Given the description of an element on the screen output the (x, y) to click on. 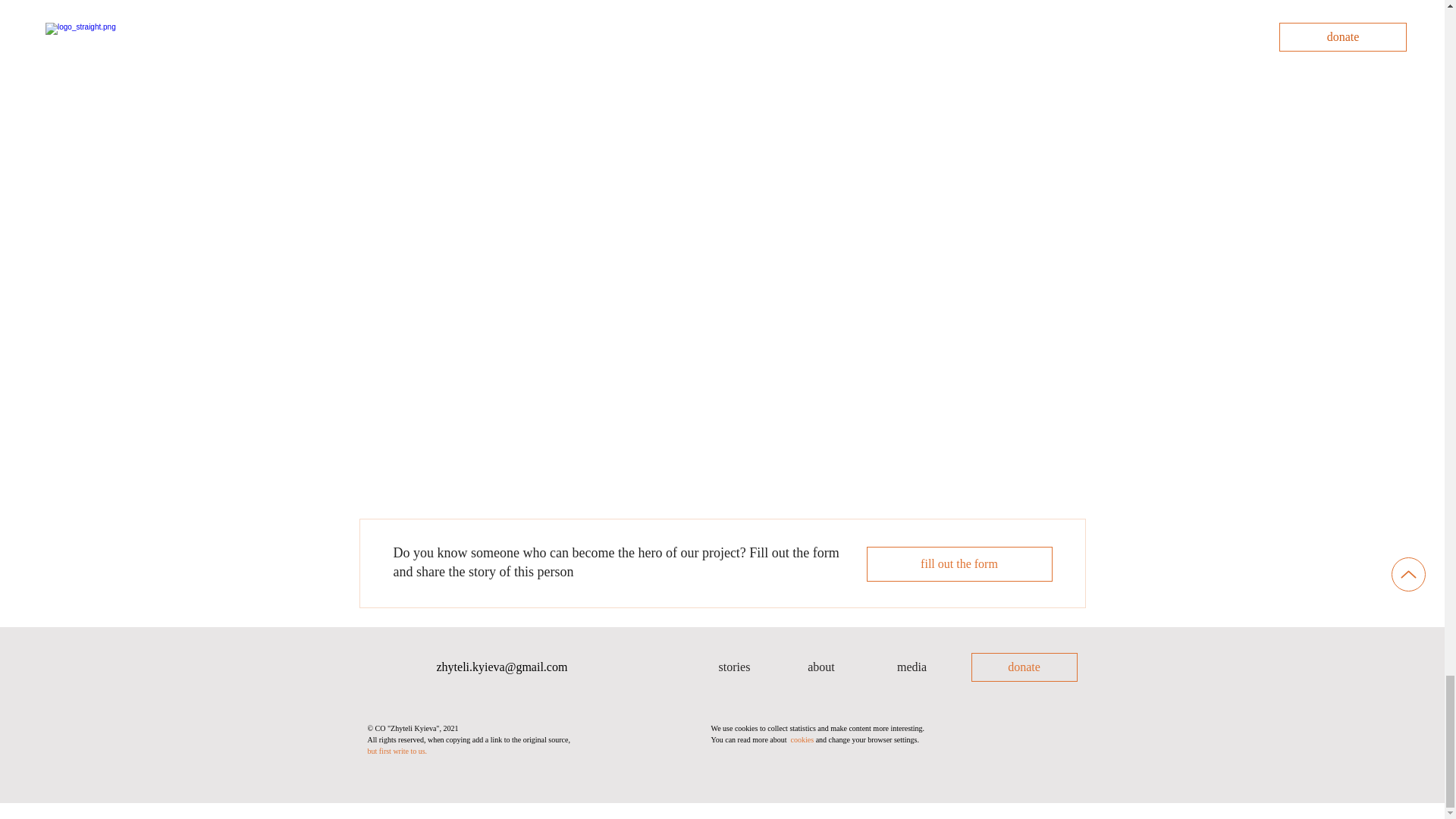
donate (1024, 666)
media (911, 666)
fill out the form (958, 564)
but first write to us. (396, 750)
stories (733, 666)
about (821, 666)
cookies (801, 739)
